Given the description of an element on the screen output the (x, y) to click on. 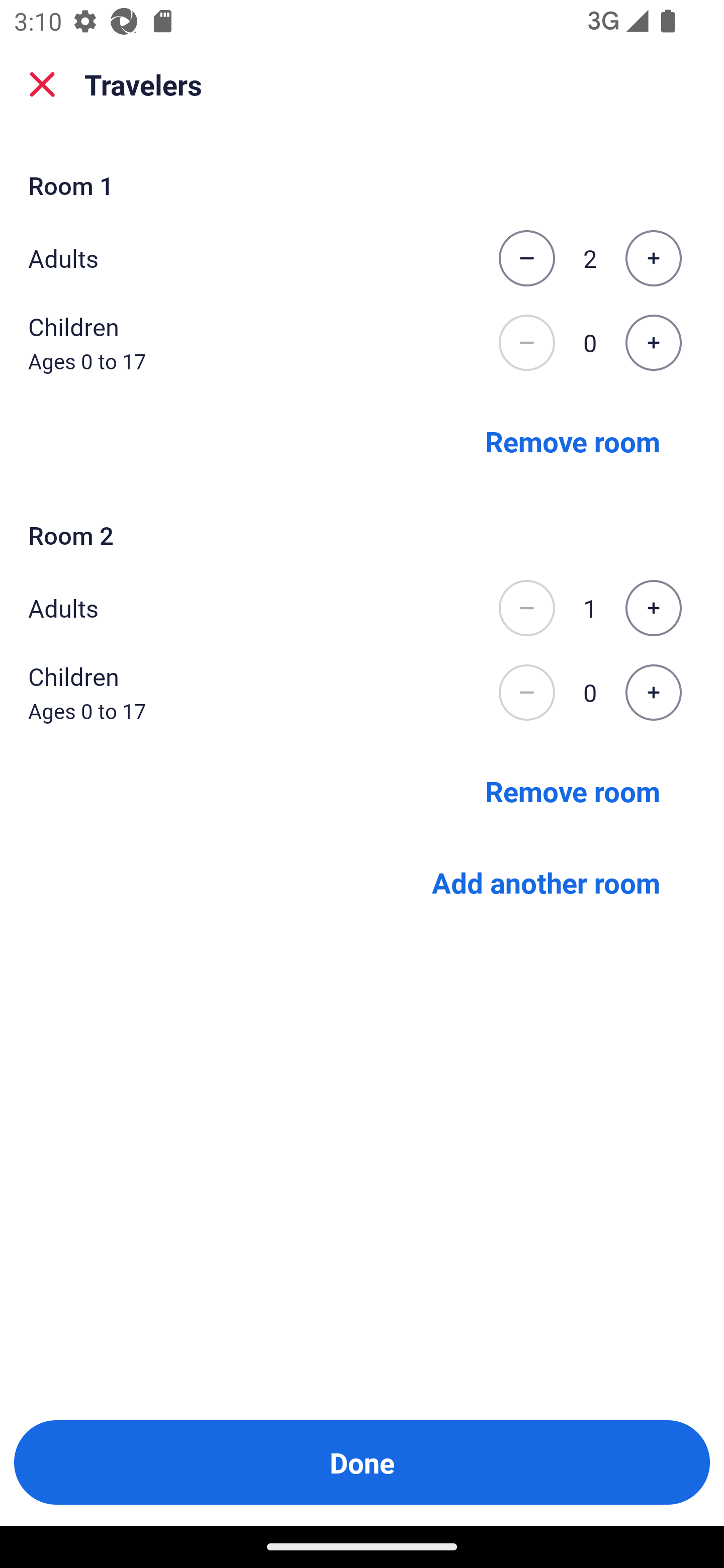
close (42, 84)
Decrease the number of adults (526, 258)
Increase the number of adults (653, 258)
Decrease the number of children (526, 343)
Increase the number of children (653, 343)
Remove room (572, 440)
Decrease the number of adults (526, 608)
Increase the number of adults (653, 608)
Decrease the number of children (526, 692)
Increase the number of children (653, 692)
Remove room (572, 790)
Add another room (545, 882)
Done (361, 1462)
